Given the description of an element on the screen output the (x, y) to click on. 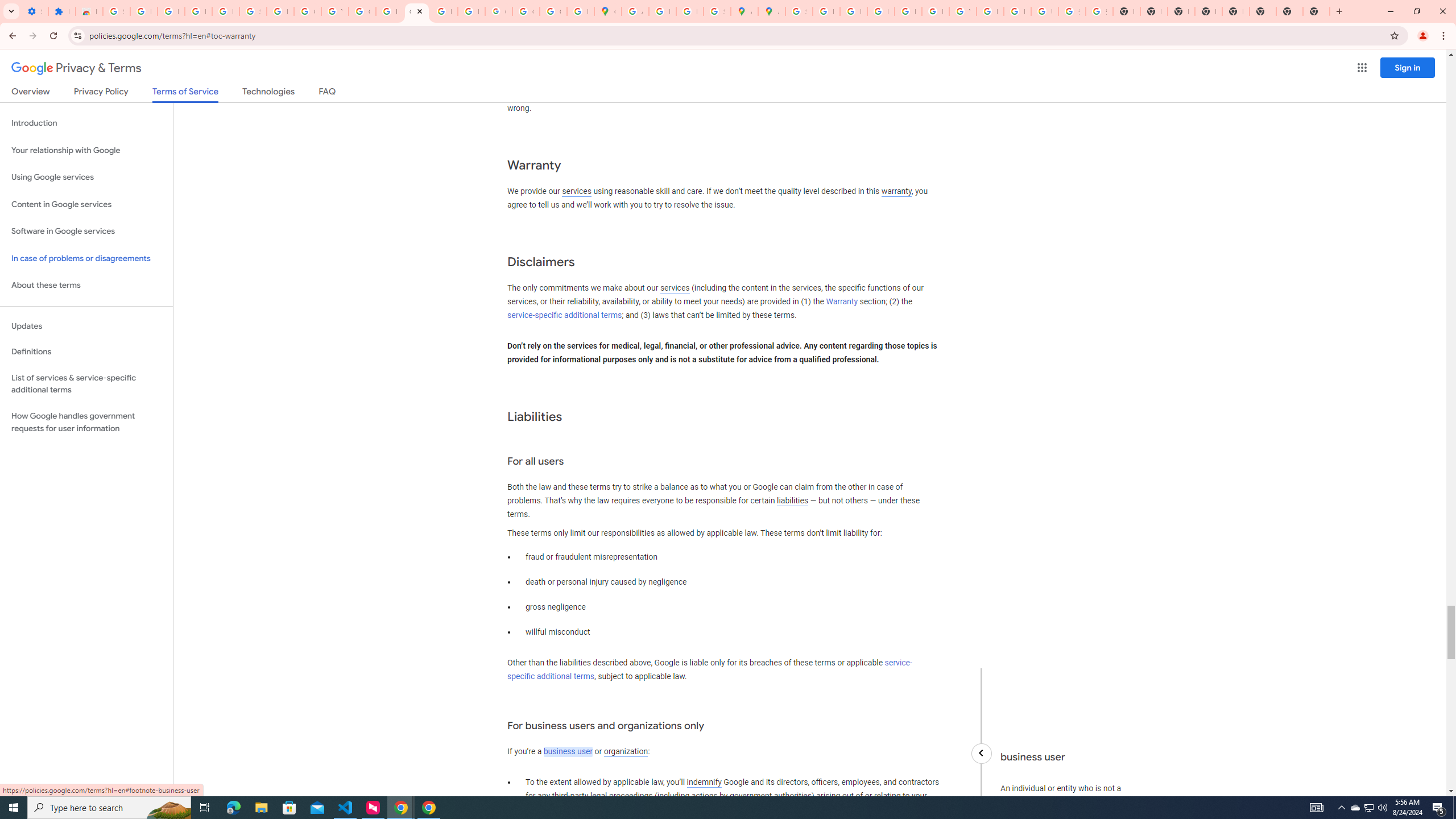
Using Google services (86, 176)
Warranty (841, 301)
Sign in - Google Accounts (253, 11)
business user (567, 751)
service-specific additional terms (709, 669)
New Tab (1289, 11)
Settings - On startup (34, 11)
